Given the description of an element on the screen output the (x, y) to click on. 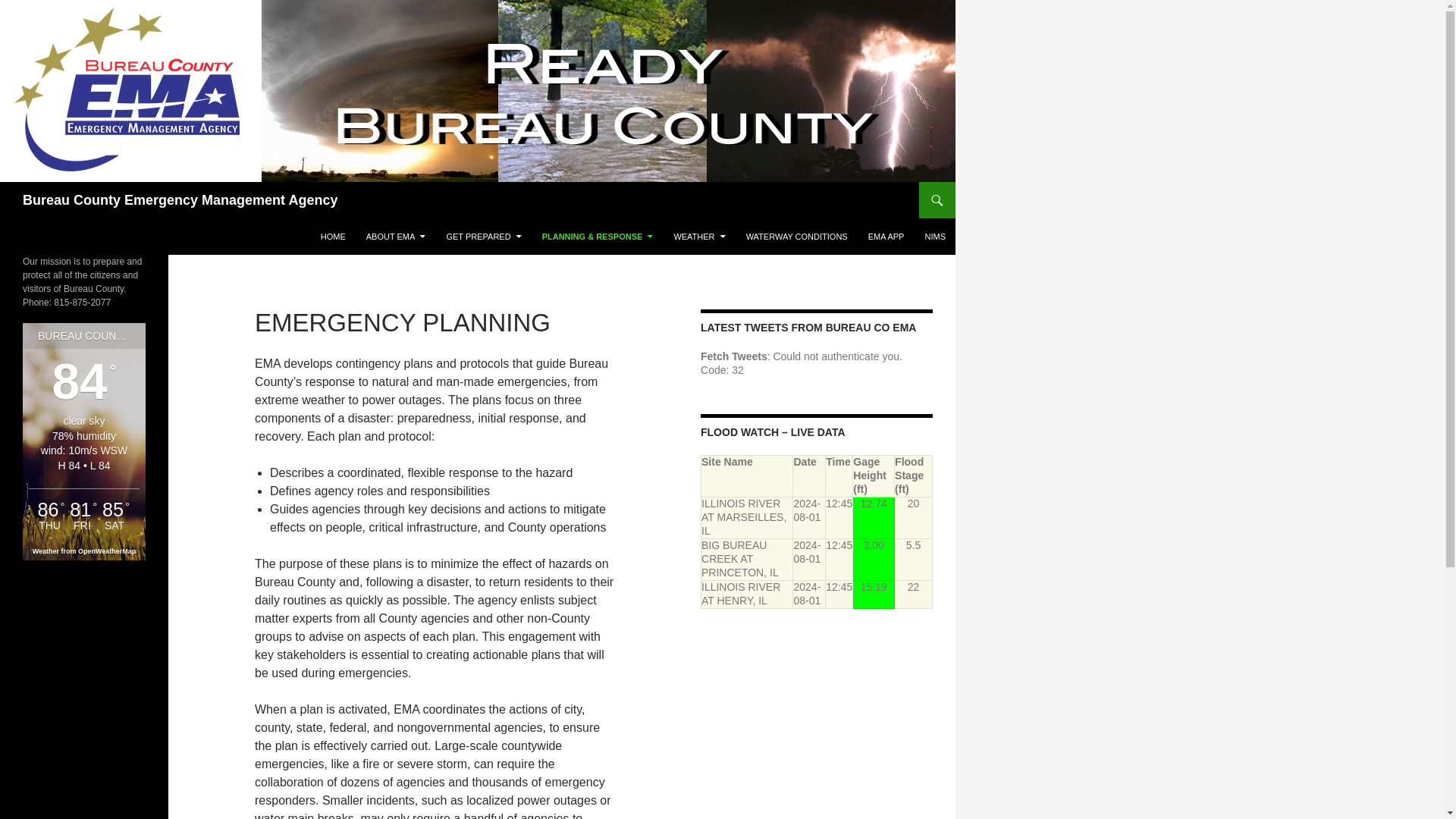
ABOUT EMA (395, 236)
HOME (333, 236)
WEATHER (698, 236)
Bureau County Emergency Management Agency (180, 199)
GET PREPARED (482, 236)
